Given the description of an element on the screen output the (x, y) to click on. 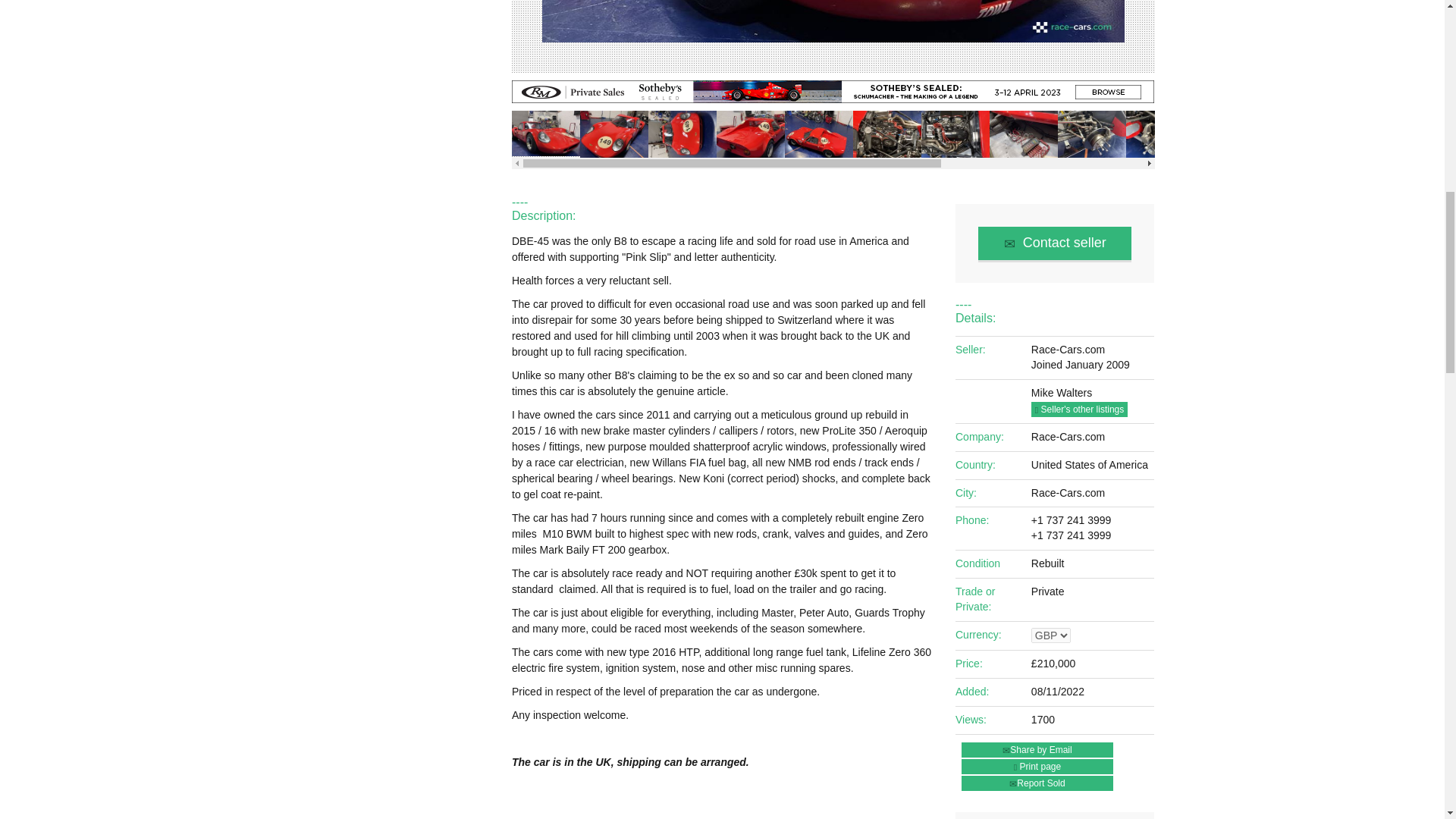
Share by Email (1036, 749)
RM Sotherby's (833, 91)
Report Sold (1036, 783)
Stunning (545, 133)
Stunning (832, 21)
Share by Email (1036, 749)
Contact seller (1054, 243)
Seller's other listings (1078, 409)
